Given the description of an element on the screen output the (x, y) to click on. 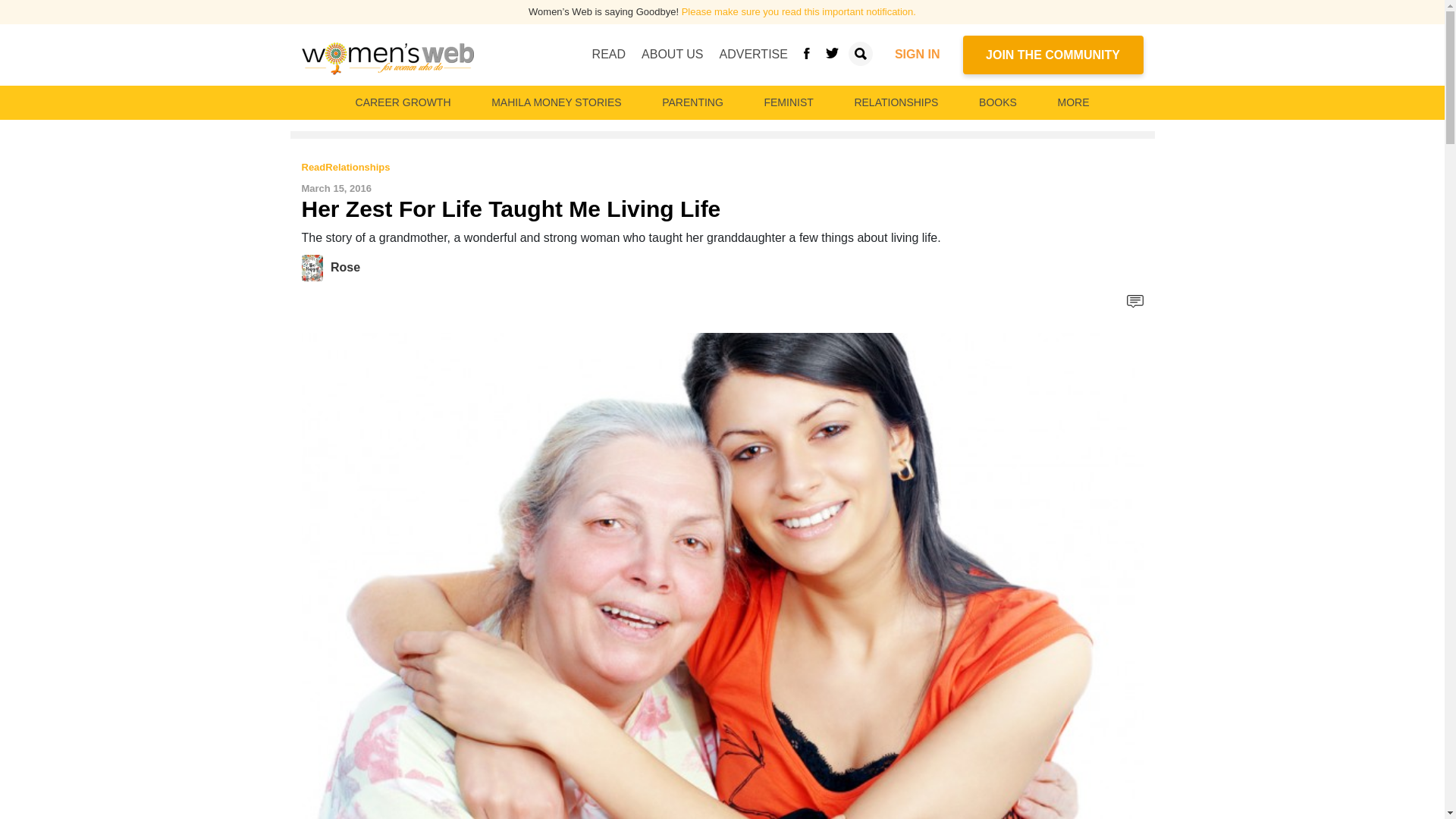
READ (608, 54)
Rose (315, 267)
FEMINIST (788, 102)
ABOUT US (672, 54)
Rose (344, 267)
CAREER GROWTH (402, 102)
ADVERTISE (753, 54)
PARENTING (691, 102)
RELATIONSHIPS (894, 102)
BOOKS (998, 102)
Please make sure you read this important notification. (798, 11)
MORE (1072, 102)
MAHILA MONEY STORIES (555, 102)
